Given the description of an element on the screen output the (x, y) to click on. 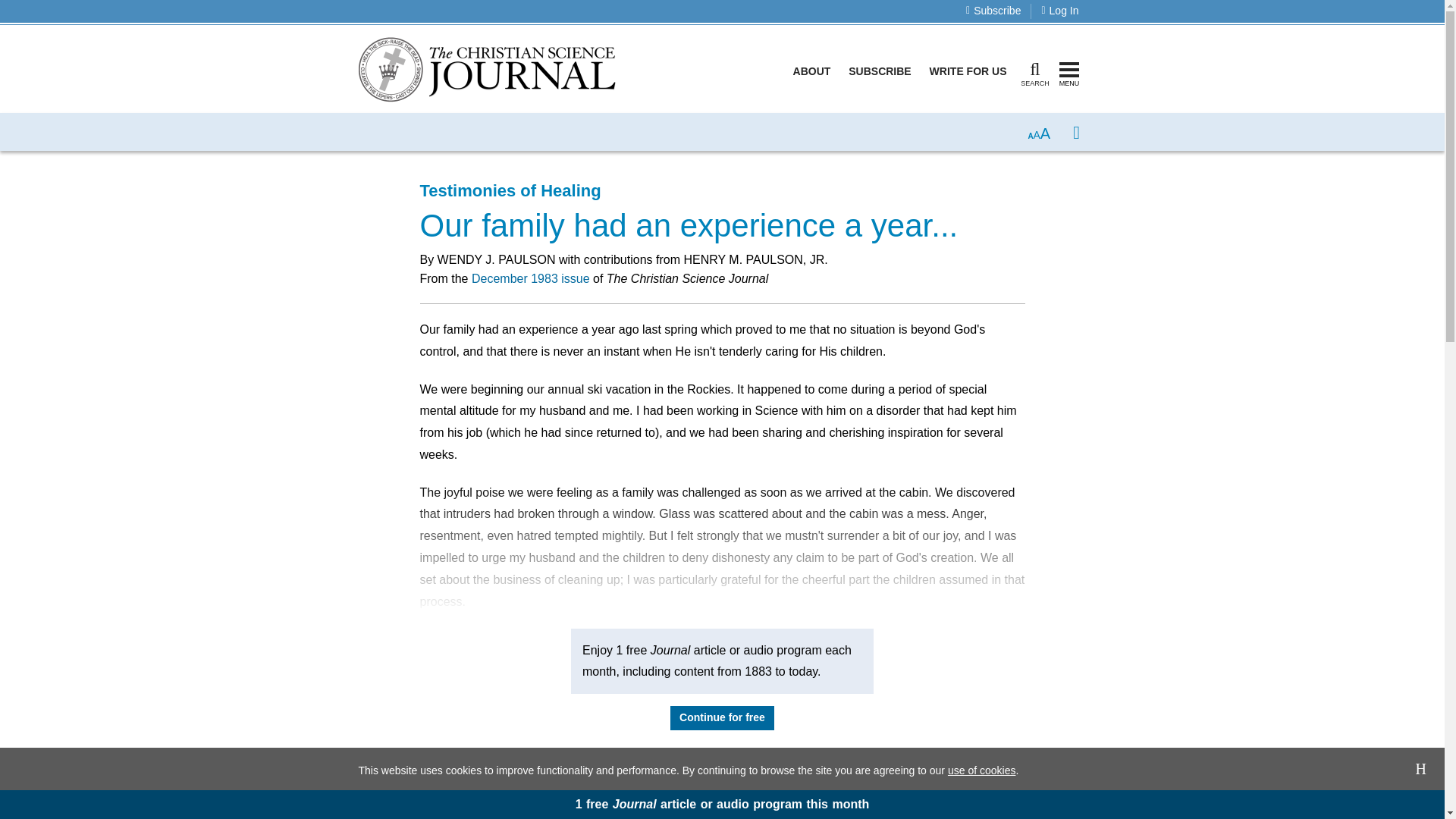
Subscribe (993, 11)
SUBSCRIBE (879, 71)
SEARCH (1034, 70)
Footnote link Write for us (967, 71)
Footnote link About (812, 71)
WRITE FOR US (967, 71)
View more from the Testimonies of Healing section (510, 189)
A A A (1038, 131)
Footnote link Subscribe (879, 71)
MENU (1069, 70)
Log In (1059, 11)
ABOUT (812, 71)
Testimonies of Healing (510, 189)
